Given the description of an element on the screen output the (x, y) to click on. 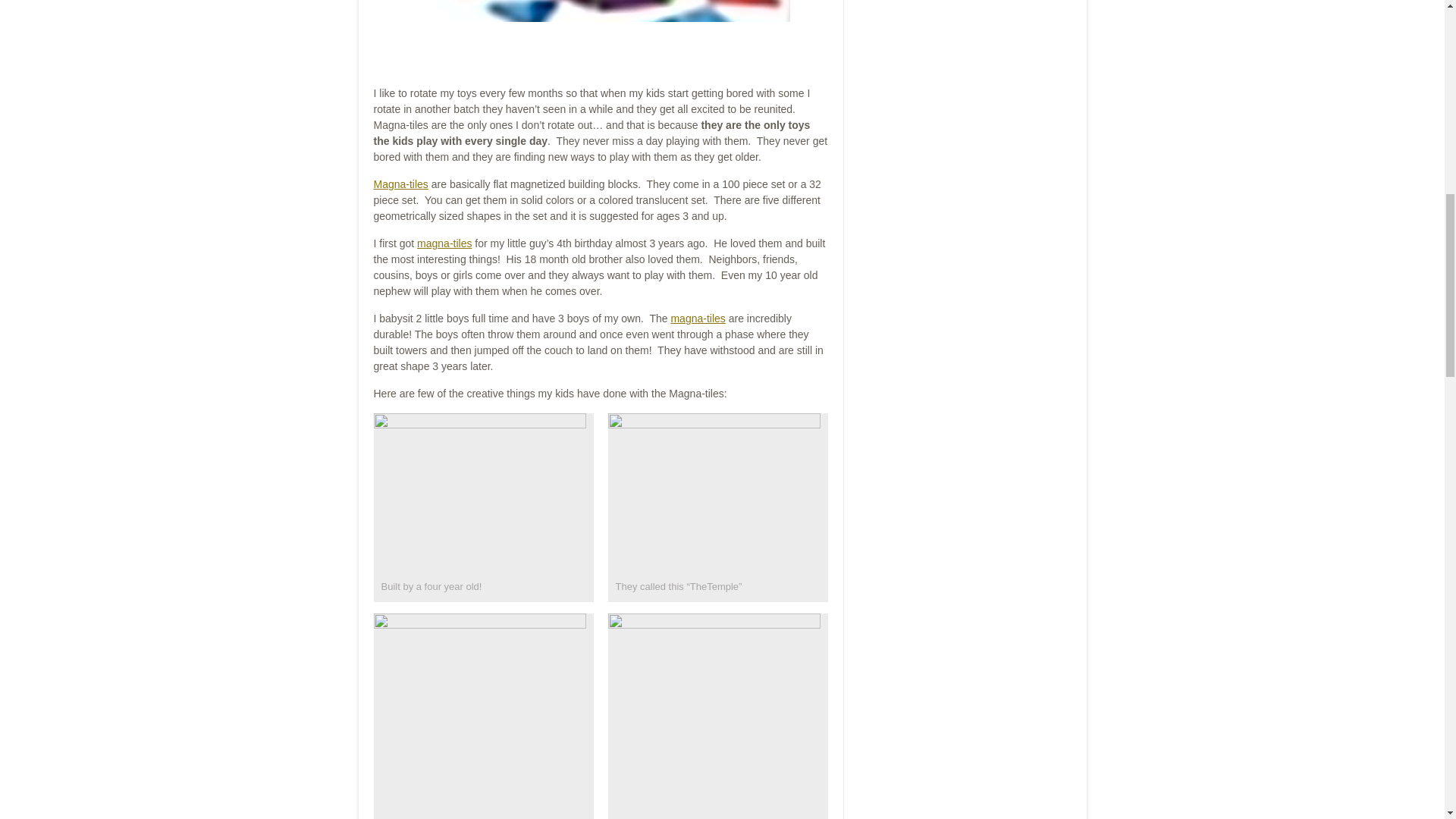
magnets-5 (478, 715)
magnets-1 (714, 492)
Magna-tiles (400, 184)
magnets (478, 492)
magna-tiles (697, 318)
magna-tiles (443, 243)
magnets-4 (714, 715)
